Given the description of an element on the screen output the (x, y) to click on. 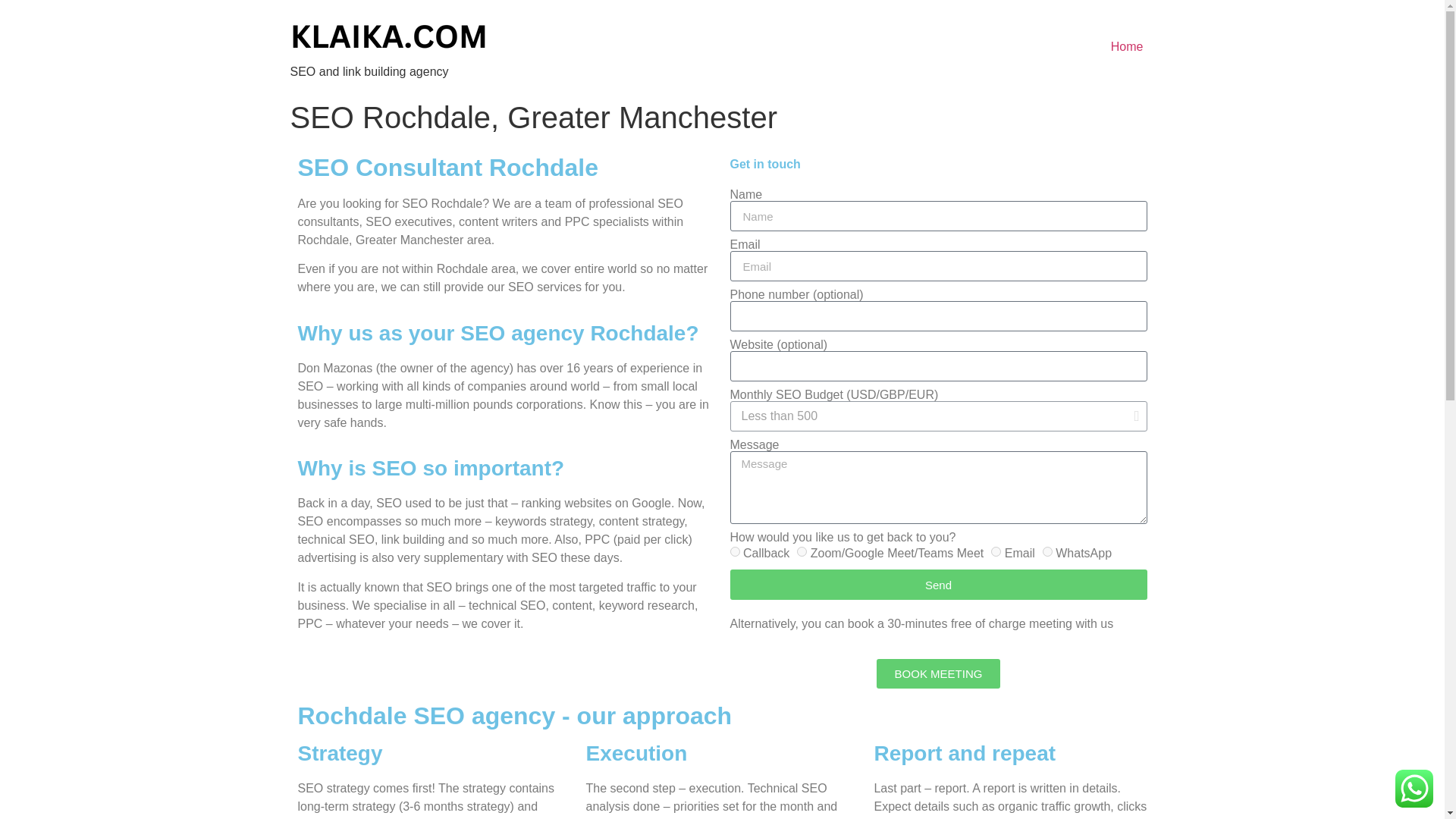
WhatsApp (1047, 551)
Email (996, 551)
Home (1126, 46)
Callback (734, 551)
Send (938, 584)
BOOK MEETING (938, 673)
